Given the description of an element on the screen output the (x, y) to click on. 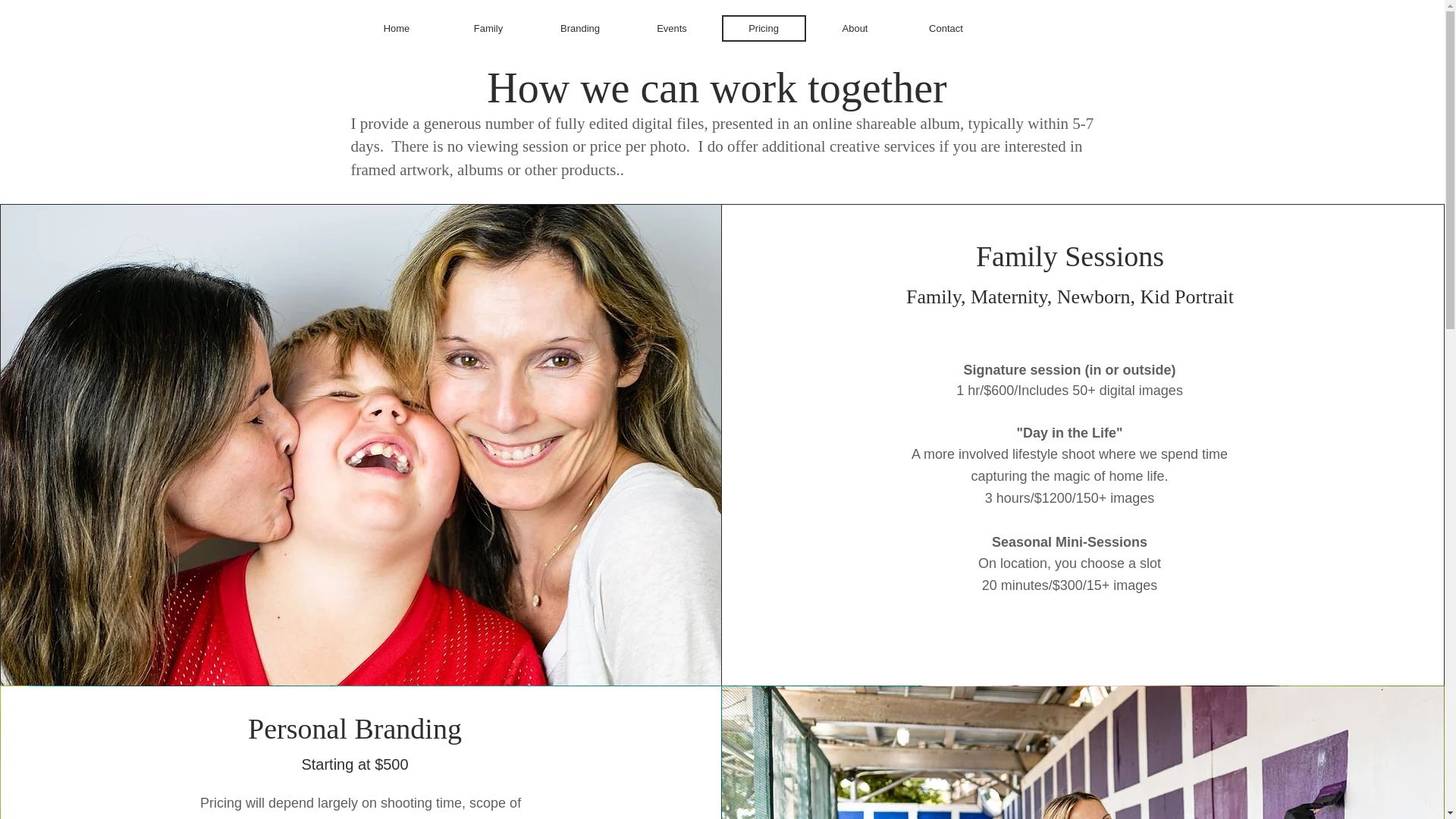
Pricing (764, 28)
Events (670, 28)
Branding (580, 28)
Contact (945, 28)
Family (487, 28)
Home (397, 28)
About (854, 28)
